Given the description of an element on the screen output the (x, y) to click on. 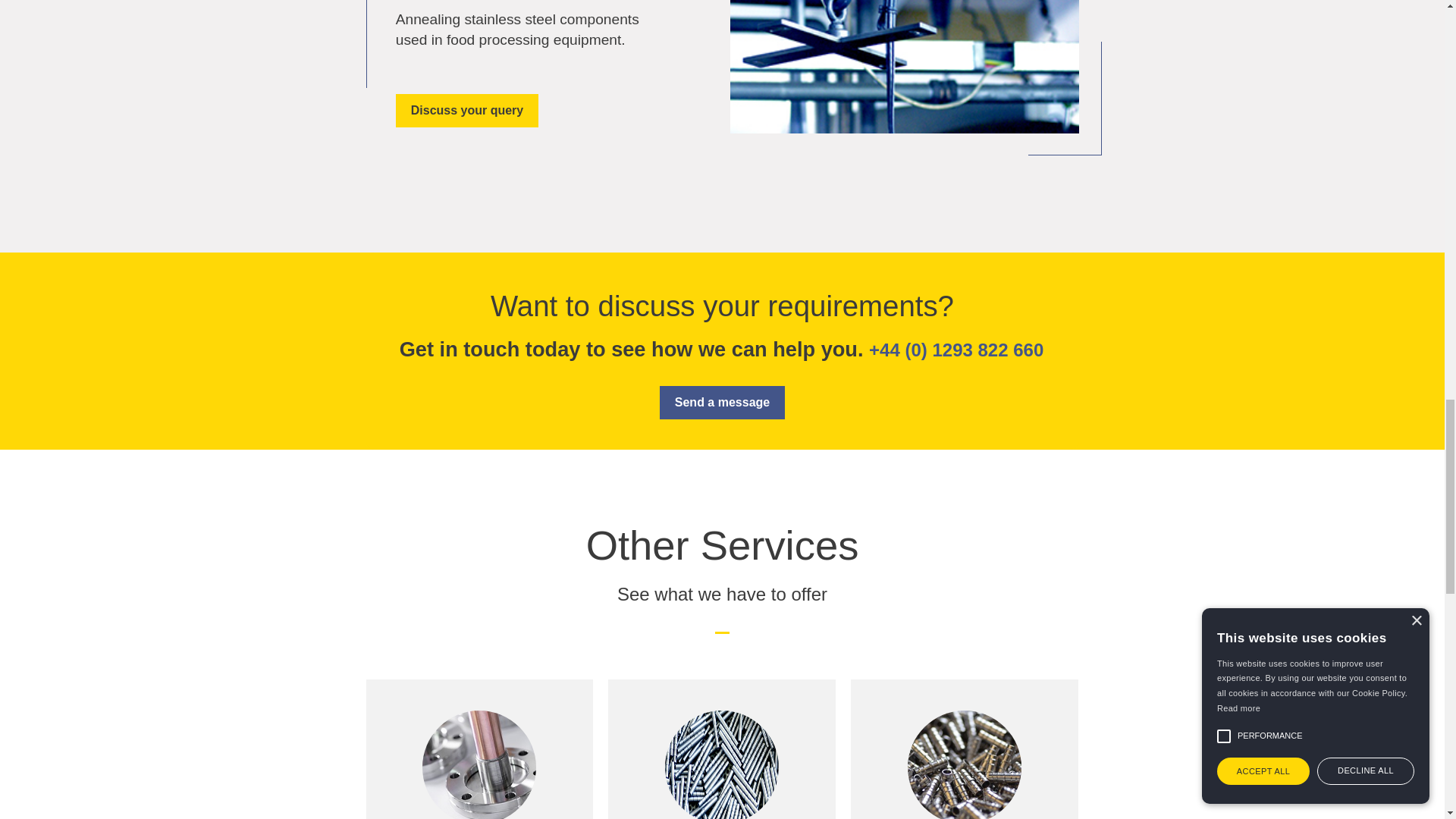
Discuss your query (467, 110)
Send a message (721, 402)
